Given the description of an element on the screen output the (x, y) to click on. 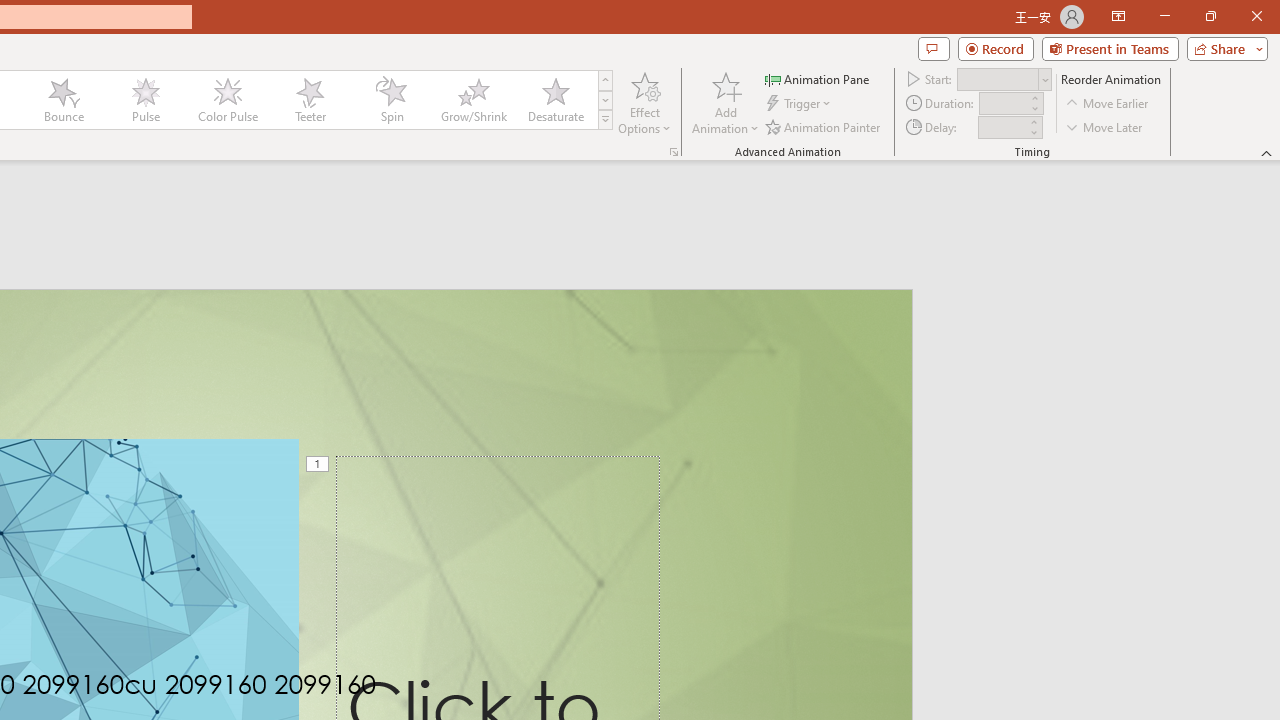
Move Earlier (1107, 103)
Animation Duration (1003, 103)
Add Animation (725, 102)
More (1033, 121)
Animation Painter (824, 126)
Teeter (309, 100)
Trigger (799, 103)
More Options... (673, 151)
Spin (391, 100)
